Given the description of an element on the screen output the (x, y) to click on. 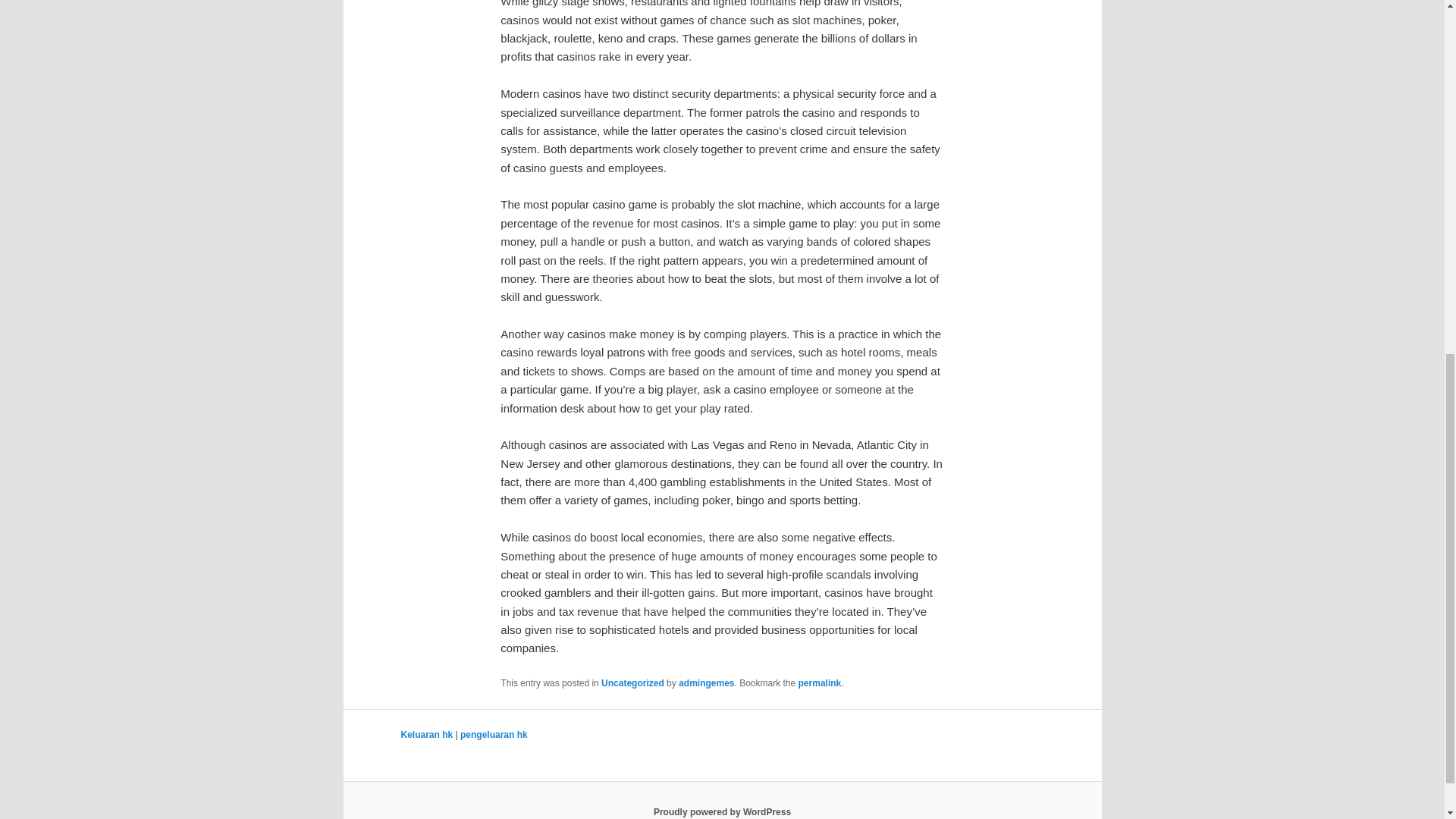
Keluaran hk (426, 734)
Semantic Personal Publishing Platform (721, 811)
Uncategorized (632, 683)
pengeluaran hk (493, 734)
admingemes (705, 683)
permalink (819, 683)
Permalink to What Is a Casino? (819, 683)
Proudly powered by WordPress (721, 811)
